Given the description of an element on the screen output the (x, y) to click on. 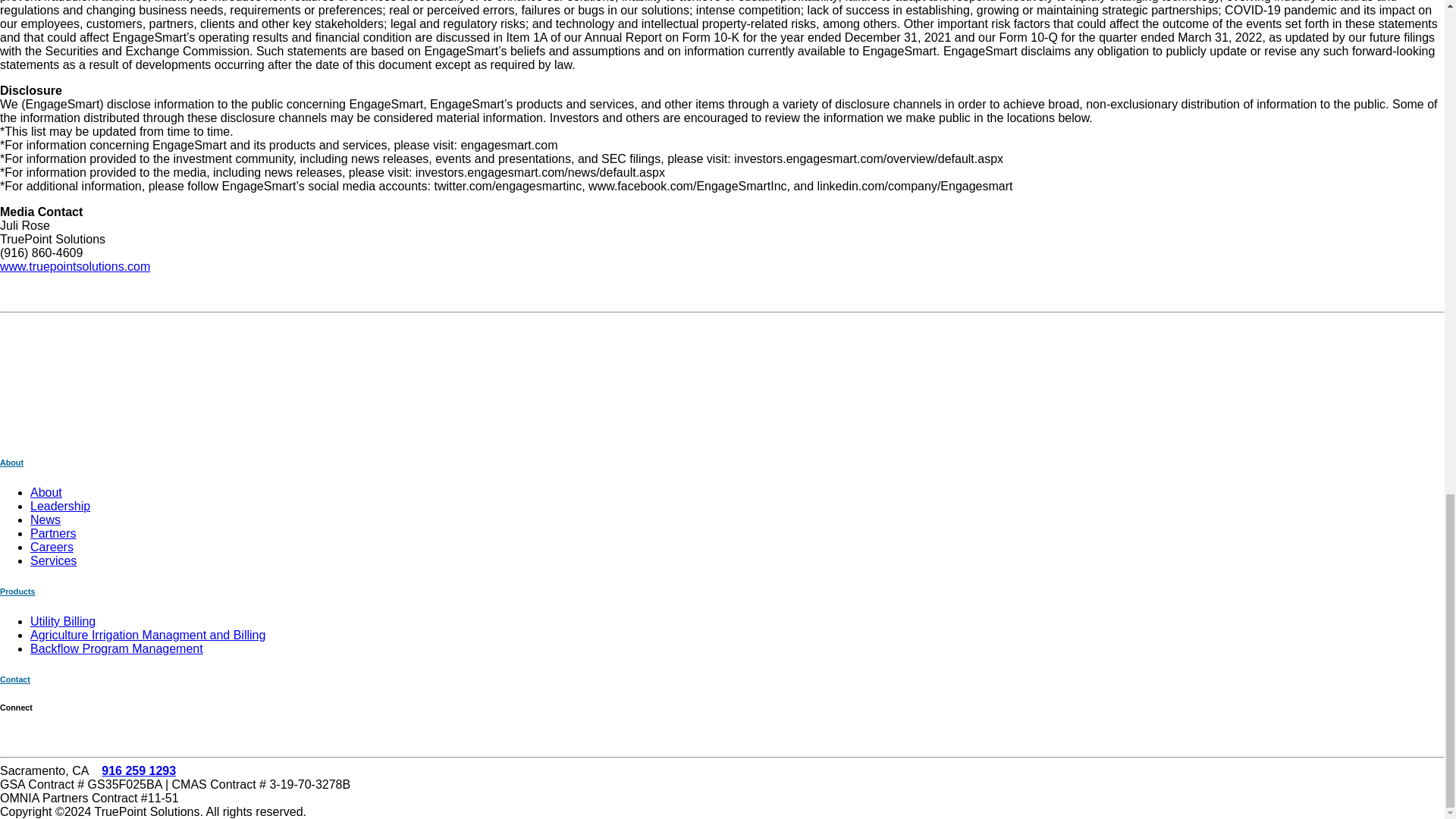
Products (17, 591)
About (11, 461)
Partners (52, 533)
Backflow Program Management (116, 648)
News (45, 519)
Contact (15, 678)
Careers (52, 546)
Utility Billing (63, 621)
Leadership (60, 505)
About (46, 492)
www.truepointsolutions.com (74, 266)
Services (53, 560)
Agriculture Irrigation Managment and Billing (147, 634)
